Given the description of an element on the screen output the (x, y) to click on. 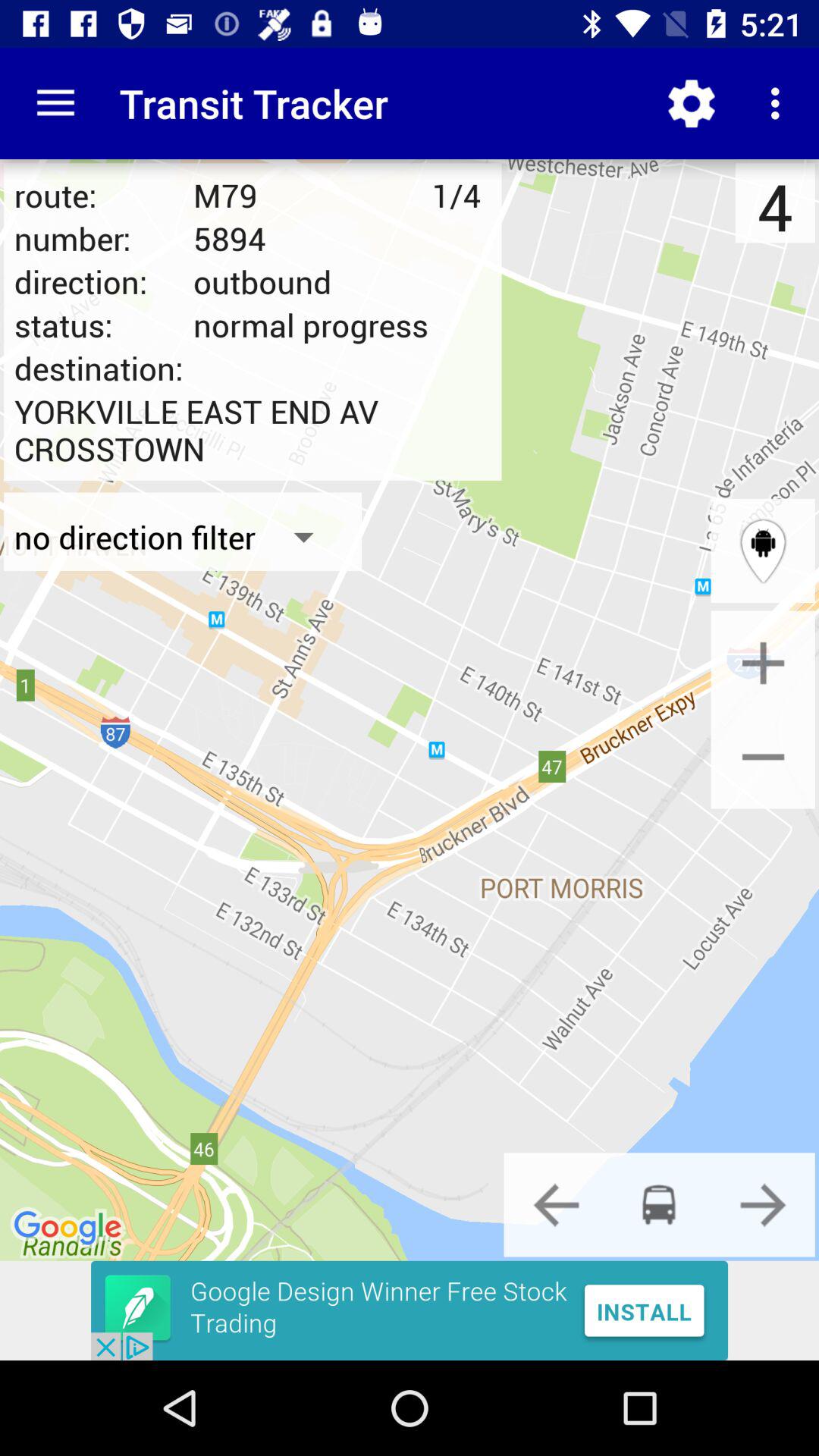
back tab (555, 1204)
